Given the description of an element on the screen output the (x, y) to click on. 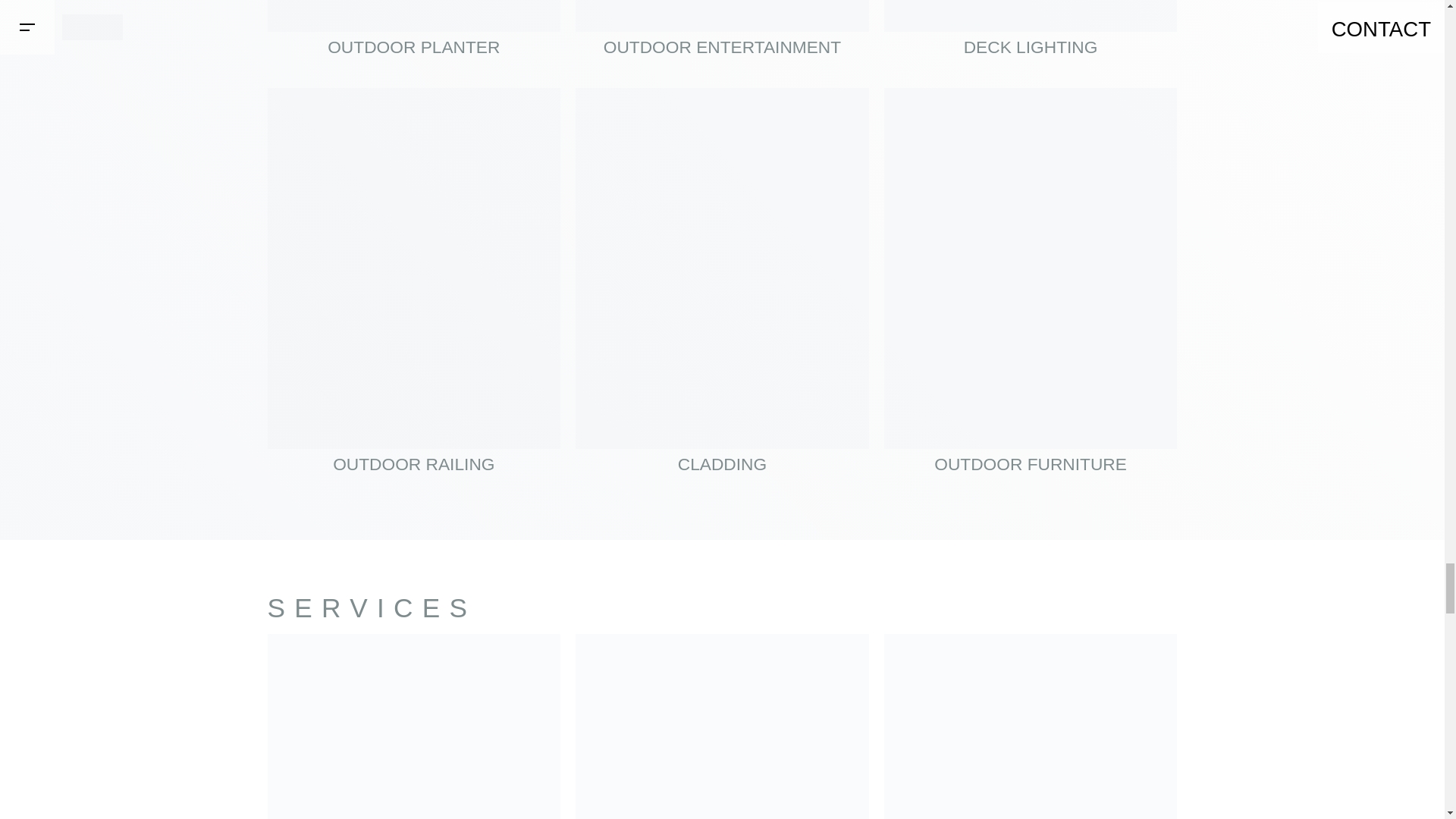
DECK ROOFING SYSTEM (1030, 726)
OUTDOOR PLANTER (413, 36)
SCHEMATICS 3D RENDERING (413, 726)
SERVICES (371, 607)
PERMITS COMPLIANCE ZONING (722, 726)
DECK LIGHTING (1030, 36)
OUTDOOR ENTERTAINMENT (722, 36)
